Given the description of an element on the screen output the (x, y) to click on. 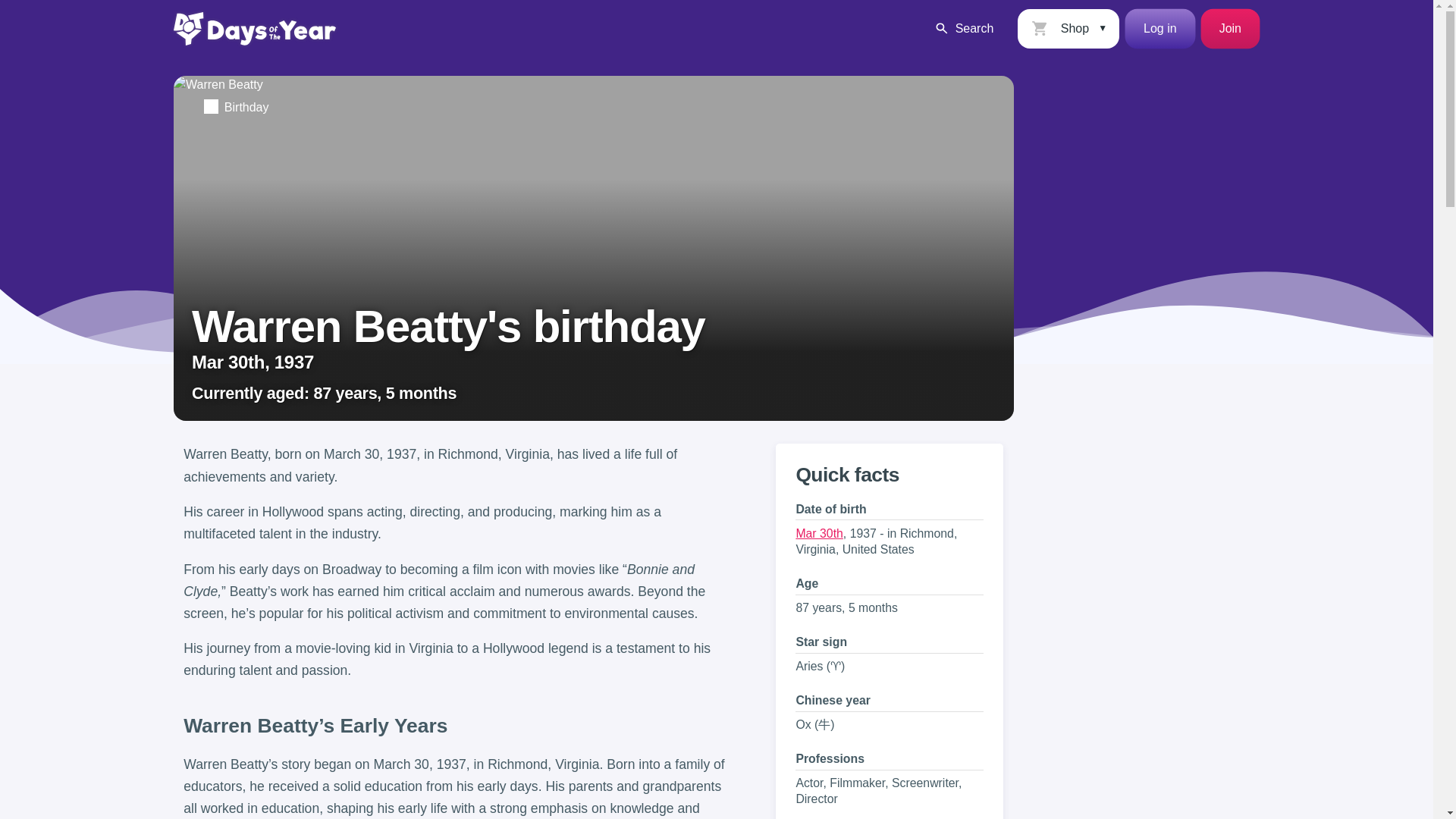
Search (963, 28)
Mar 30th (818, 533)
Log in (1160, 28)
Join (1230, 28)
